Given the description of an element on the screen output the (x, y) to click on. 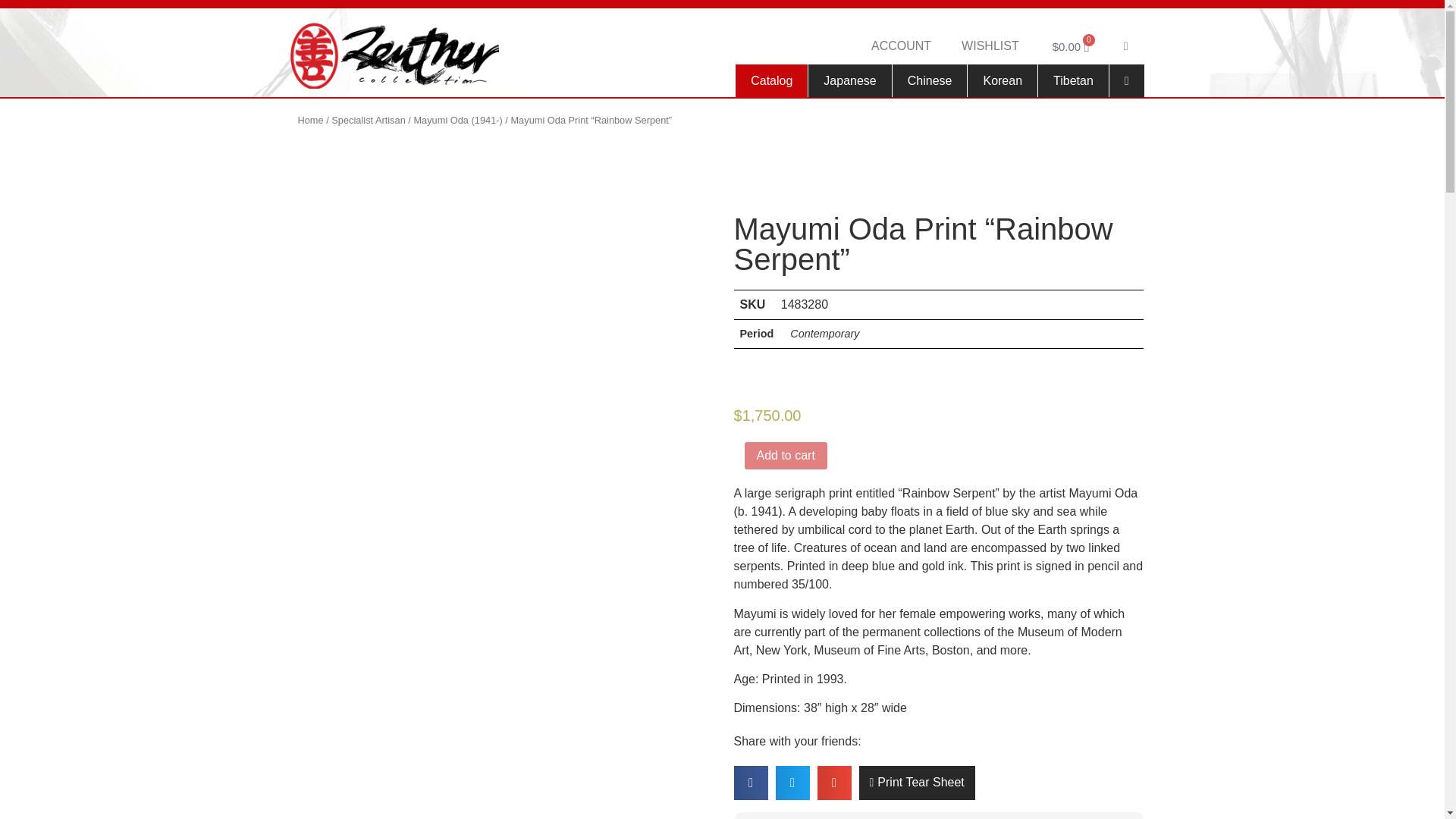
WISHLIST (989, 45)
Catalog (771, 80)
ACCOUNT (901, 45)
Search (1126, 45)
